Given the description of an element on the screen output the (x, y) to click on. 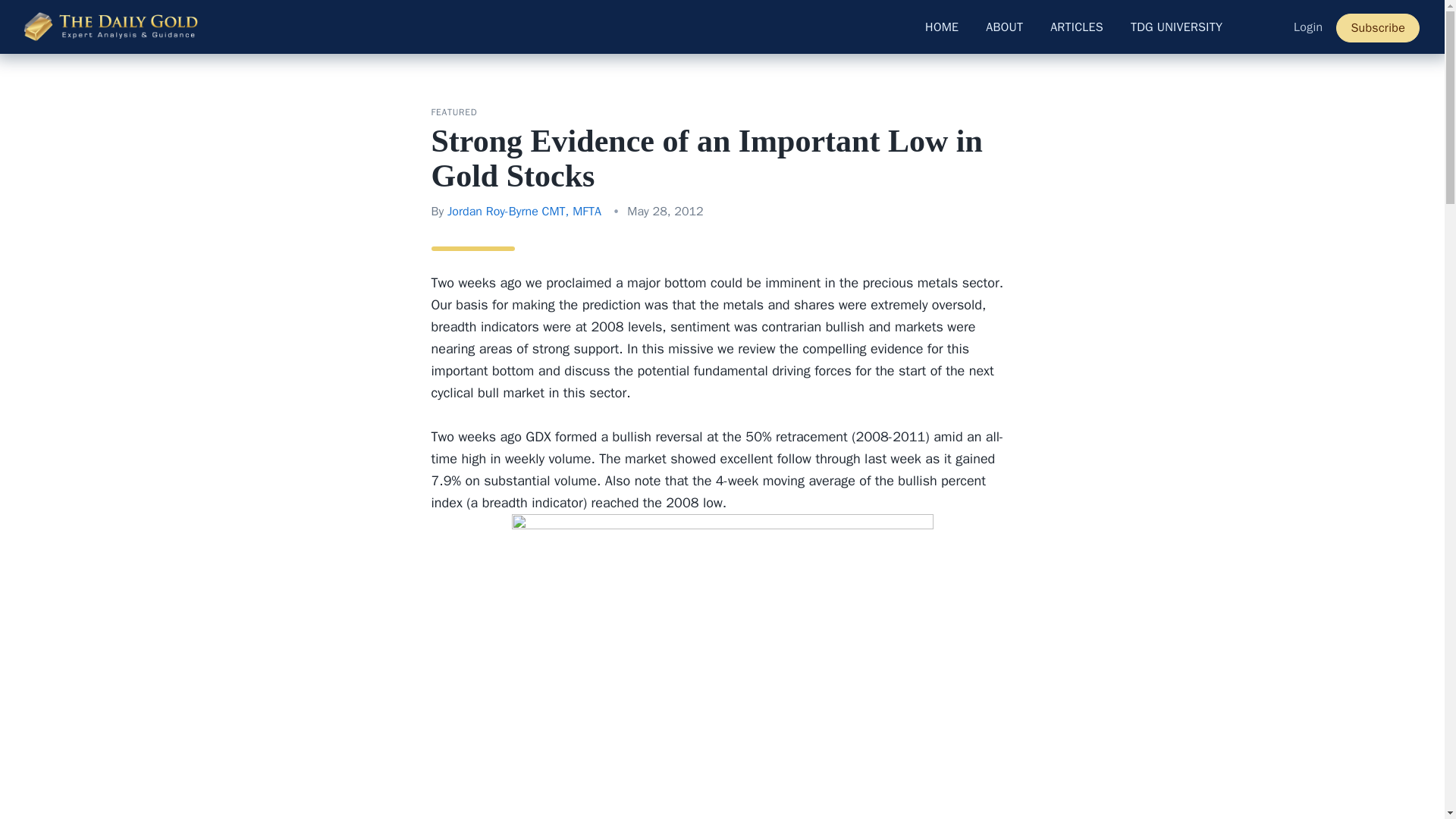
Login (1307, 26)
Subscribe (1377, 27)
ABOUT (1004, 26)
HOME (941, 26)
FEATURED (453, 111)
TDG UNIVERSITY (1176, 26)
Jordan Roy-Byrne CMT, MFTA (523, 211)
ARTICLES (1076, 26)
